Given the description of an element on the screen output the (x, y) to click on. 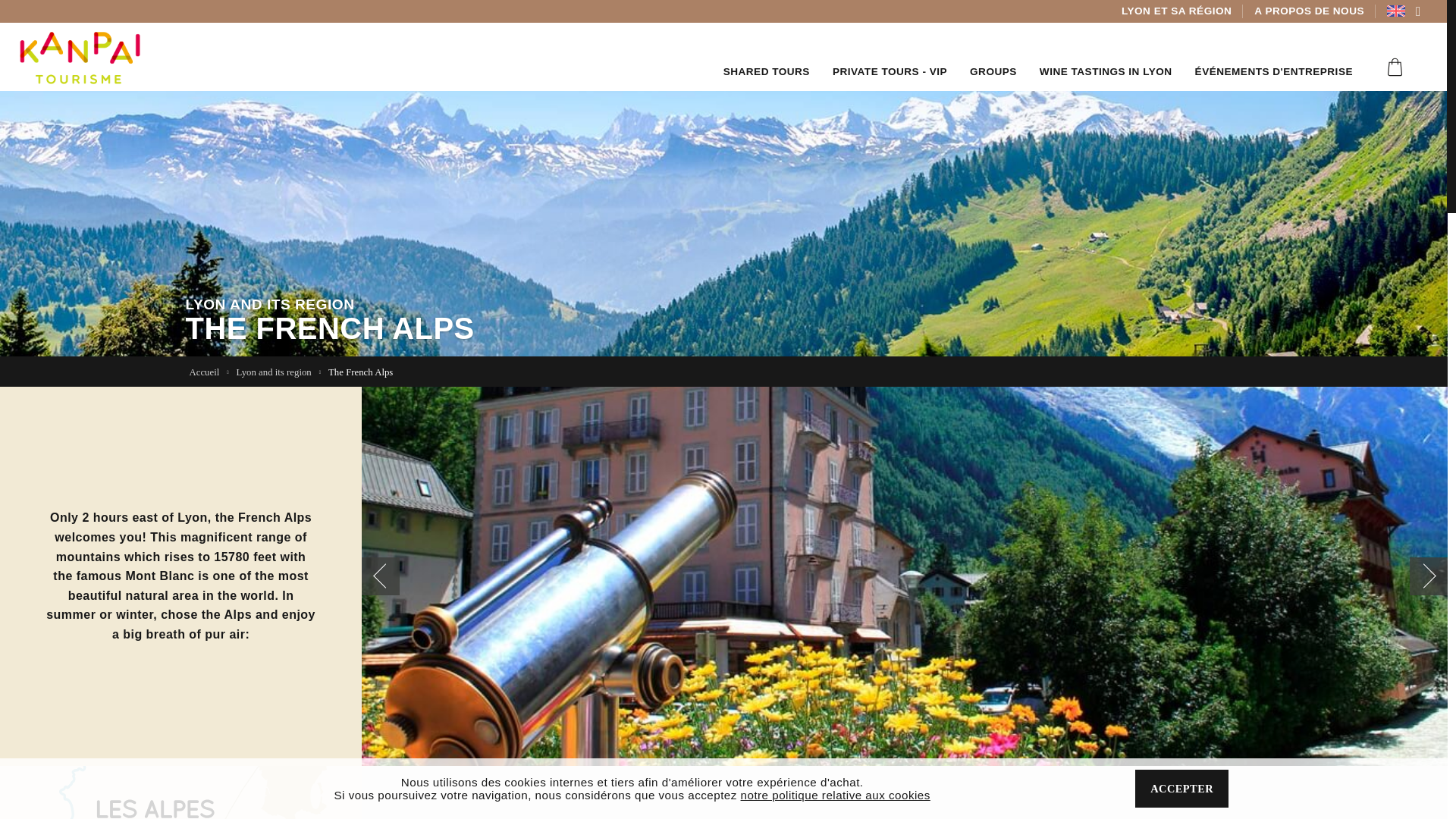
Accueil (208, 371)
The French Alps (364, 371)
notre politique relative aux cookies (835, 797)
WINE TASTINGS IN LYON (1105, 56)
Lyon and its region (278, 371)
A PROPOS DE NOUS (1308, 11)
PRIVATE TOURS - VIP (889, 56)
SHARED TOURS (766, 56)
